Given the description of an element on the screen output the (x, y) to click on. 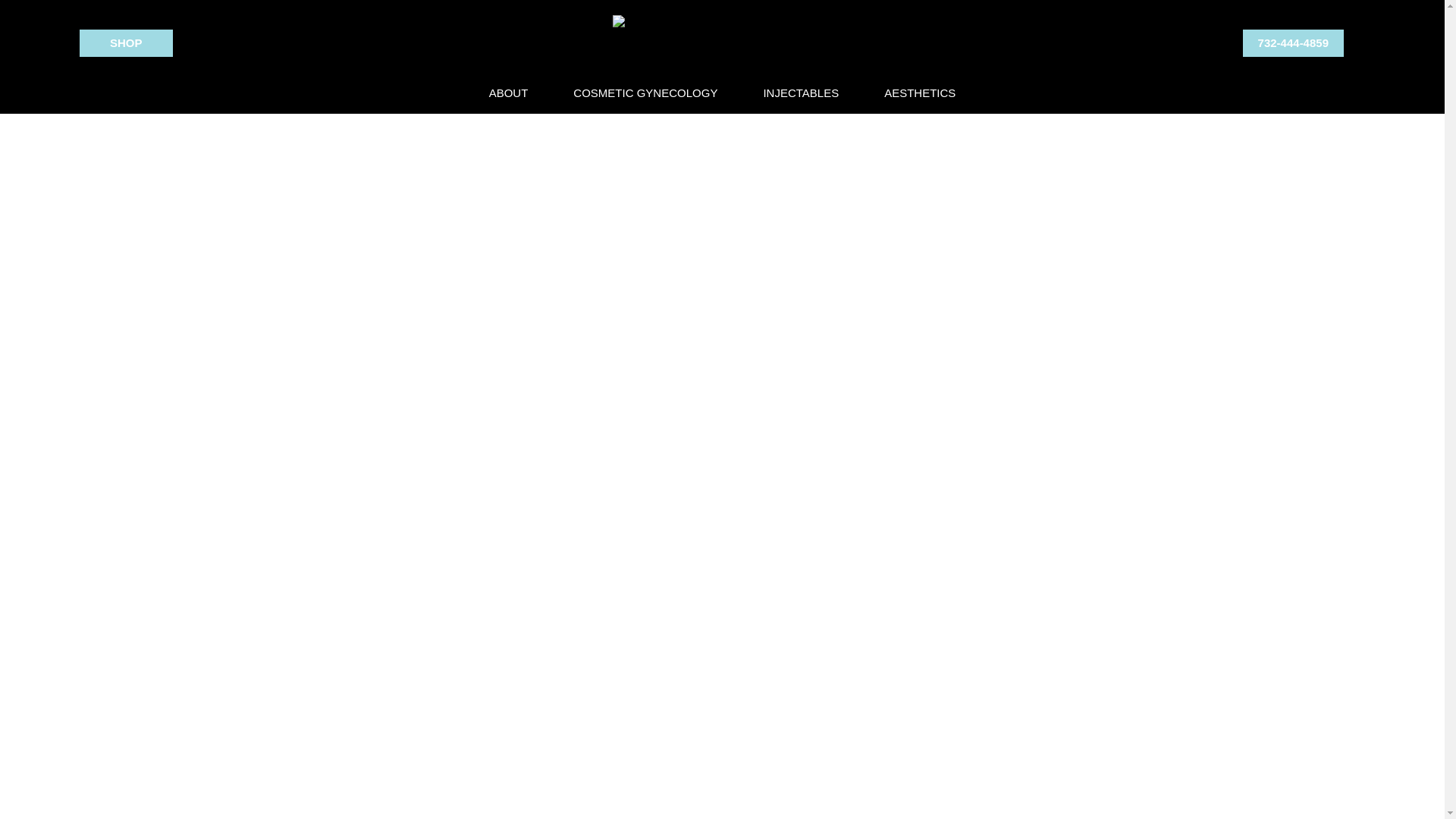
INJECTABLES (800, 92)
732-444-4859 (1293, 43)
SHOP (126, 43)
COSMETIC GYNECOLOGY (644, 92)
ABOUT (508, 92)
